Given the description of an element on the screen output the (x, y) to click on. 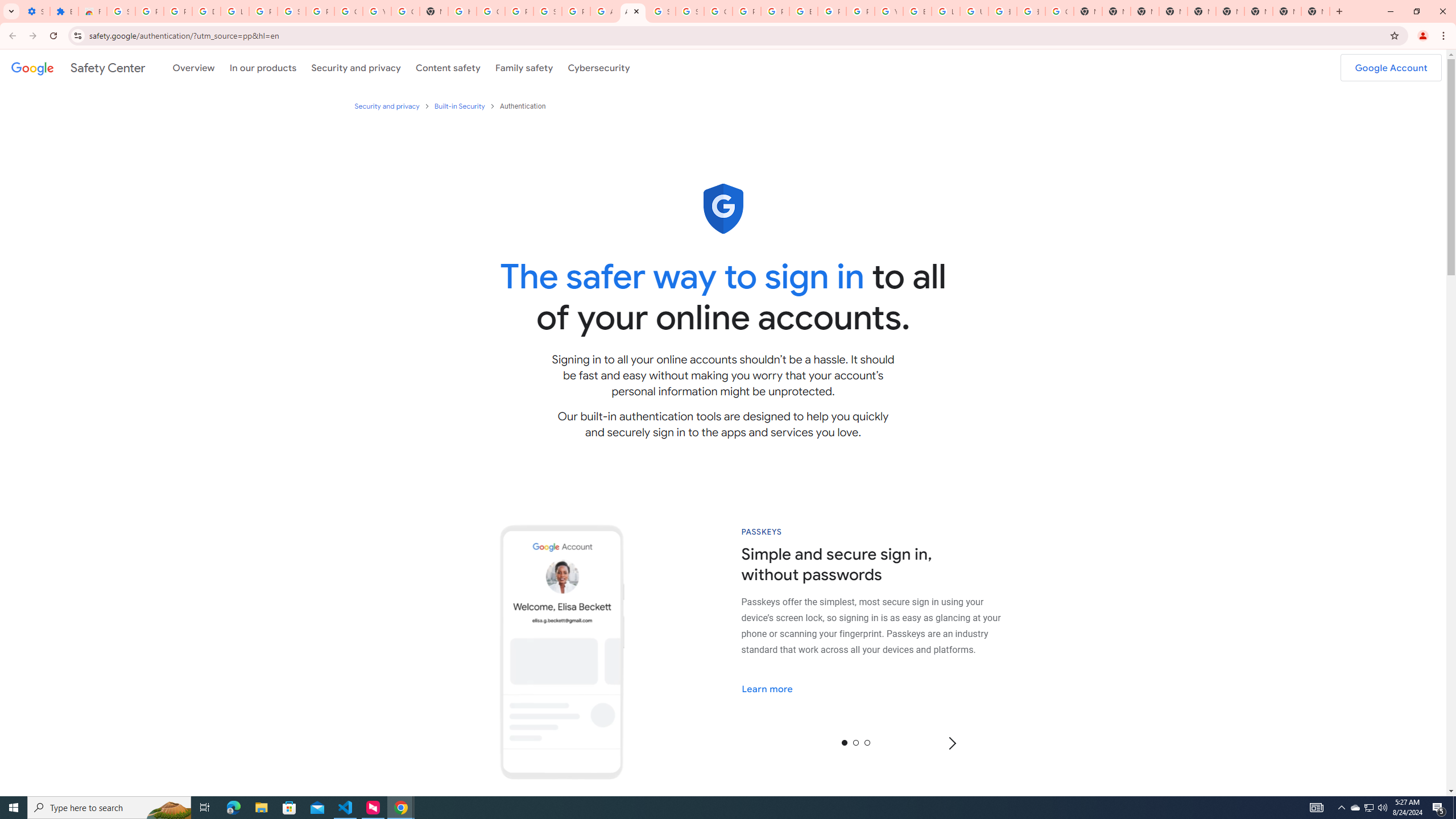
1 (855, 742)
YouTube (888, 11)
Settings - On startup (35, 11)
YouTube (377, 11)
Built-in Security  (459, 105)
Security and privacy (356, 67)
Google Account (1390, 67)
